Given the description of an element on the screen output the (x, y) to click on. 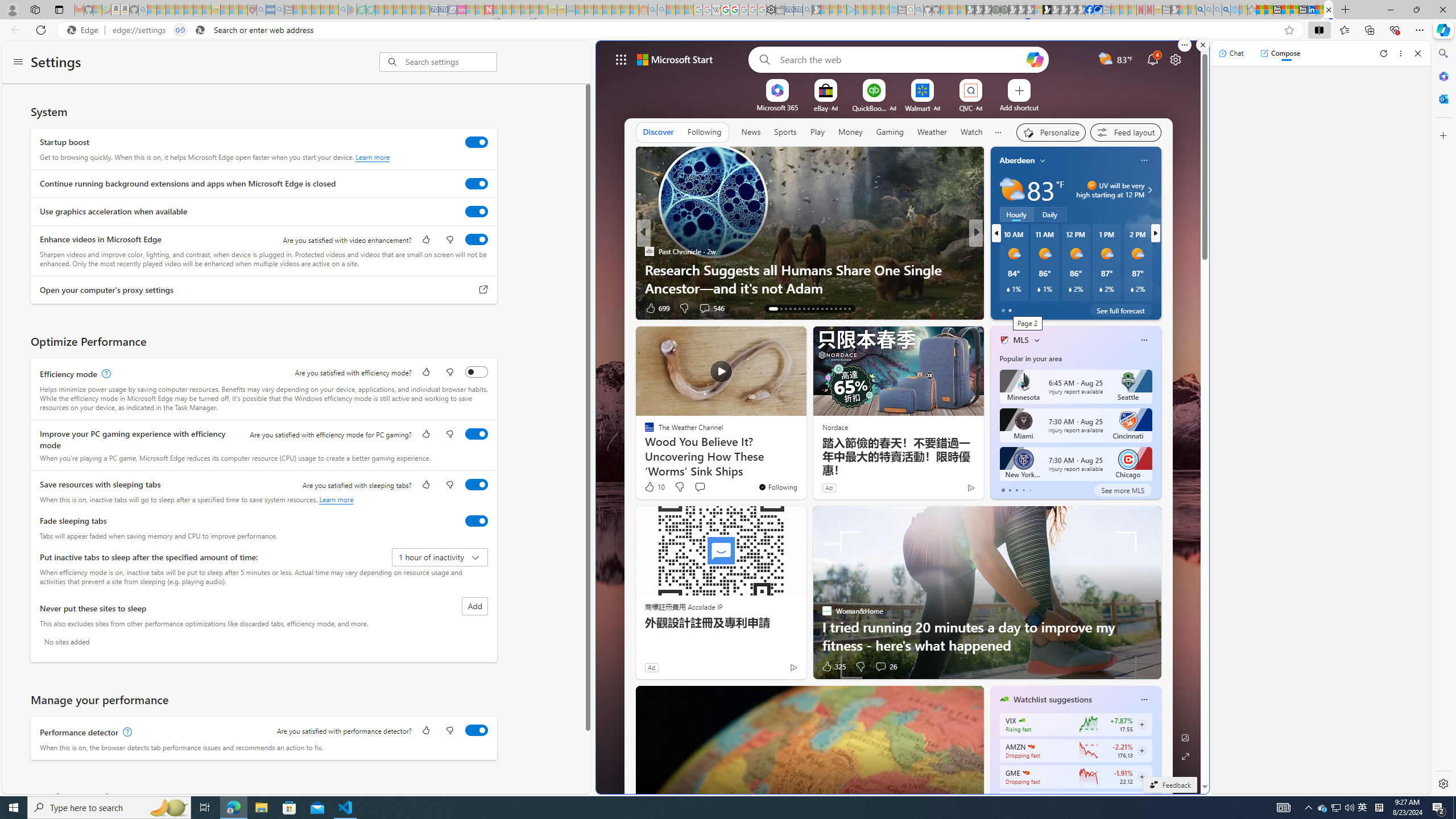
See full forecast (1120, 310)
AutomationID: tab-16 (790, 308)
View comments 2 Comment (1054, 307)
View comments 10 Comment (1059, 307)
See more MLS (1122, 490)
